Given the description of an element on the screen output the (x, y) to click on. 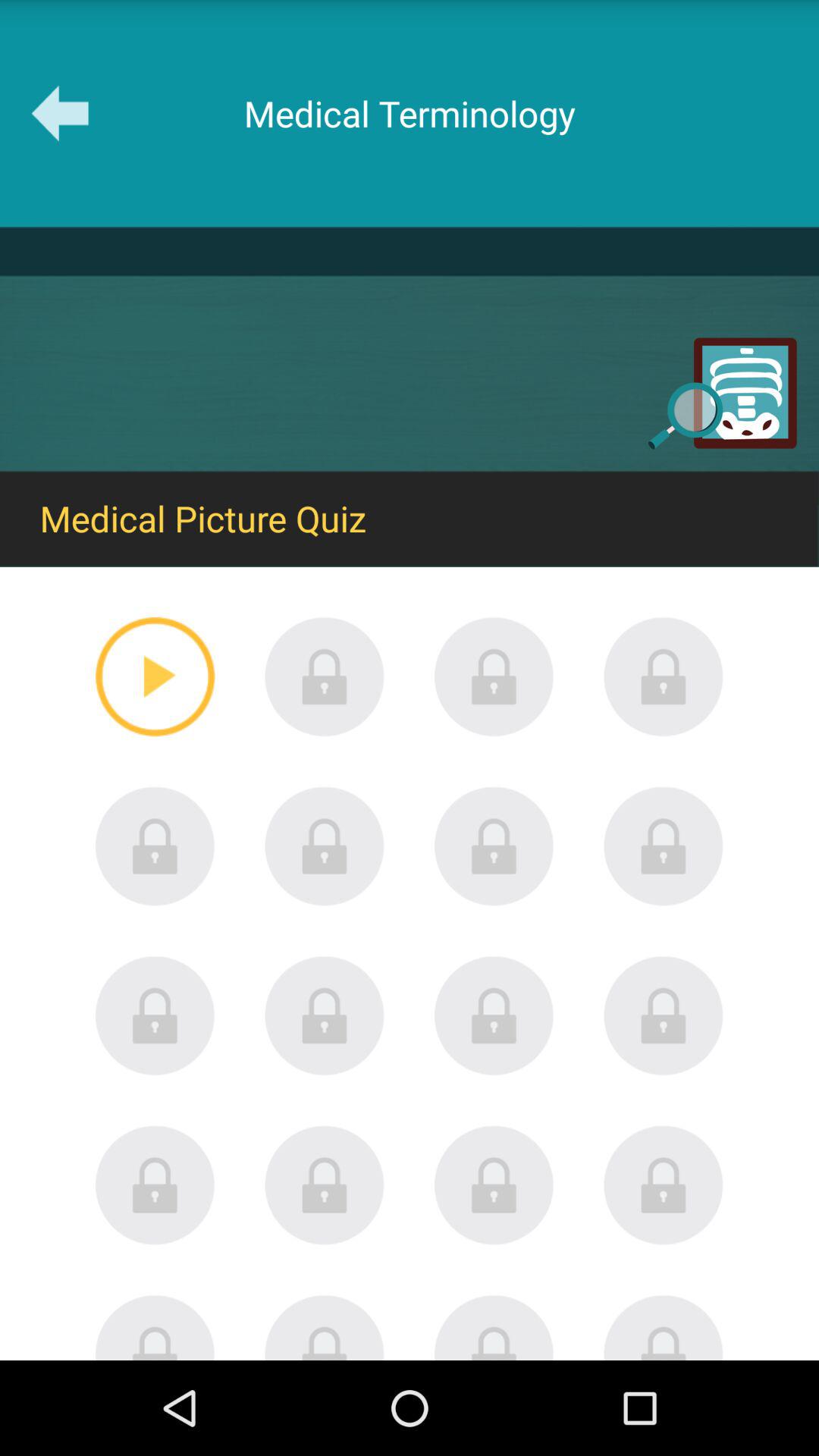
quiz locked (324, 846)
